Given the description of an element on the screen output the (x, y) to click on. 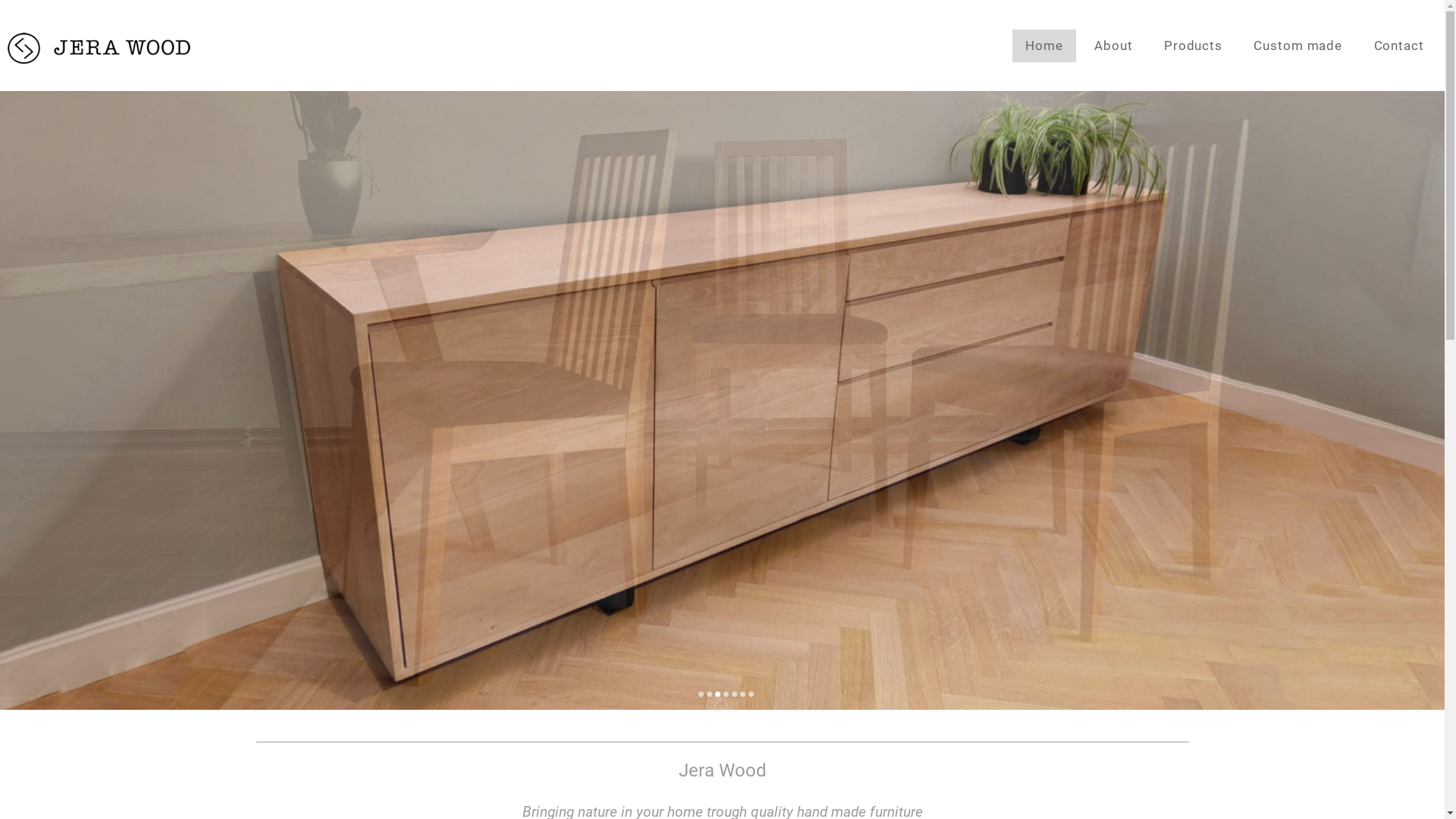
3 Element type: text (717, 694)
7 Element type: text (750, 694)
Products Element type: text (1193, 45)
6 Element type: text (742, 694)
Contact Element type: text (1398, 45)
About Element type: text (1113, 45)
5 Element type: text (734, 694)
1 Element type: text (700, 694)
Custom made Element type: text (1297, 45)
4 Element type: text (725, 694)
Home Element type: text (1044, 45)
2 Element type: text (709, 694)
